Given the description of an element on the screen output the (x, y) to click on. 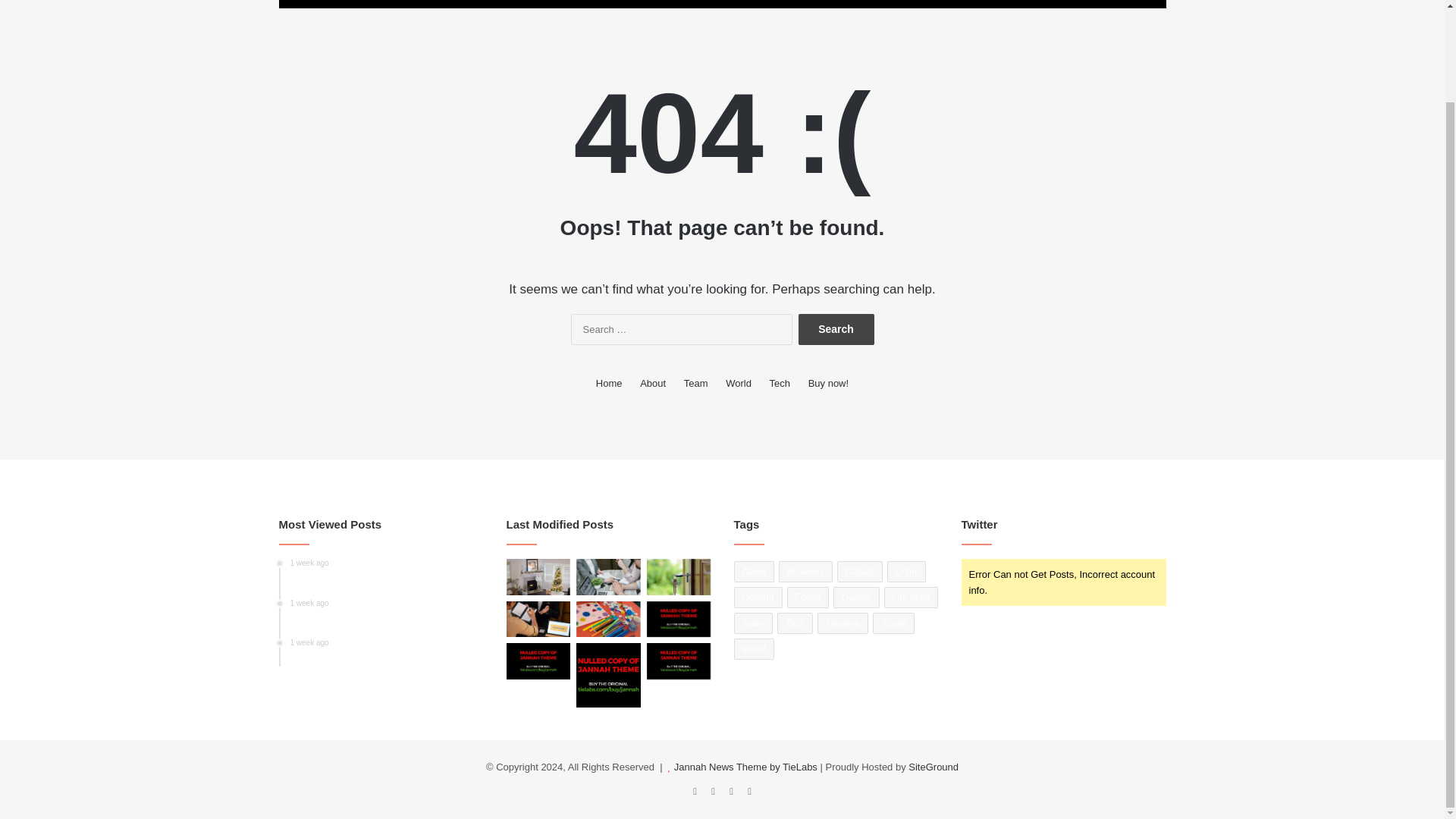
Life Style (800, 4)
World (615, 4)
Search (835, 328)
Tech (731, 4)
Search (835, 328)
World (675, 4)
Buy now! (828, 383)
More (869, 4)
Home (560, 4)
